Given the description of an element on the screen output the (x, y) to click on. 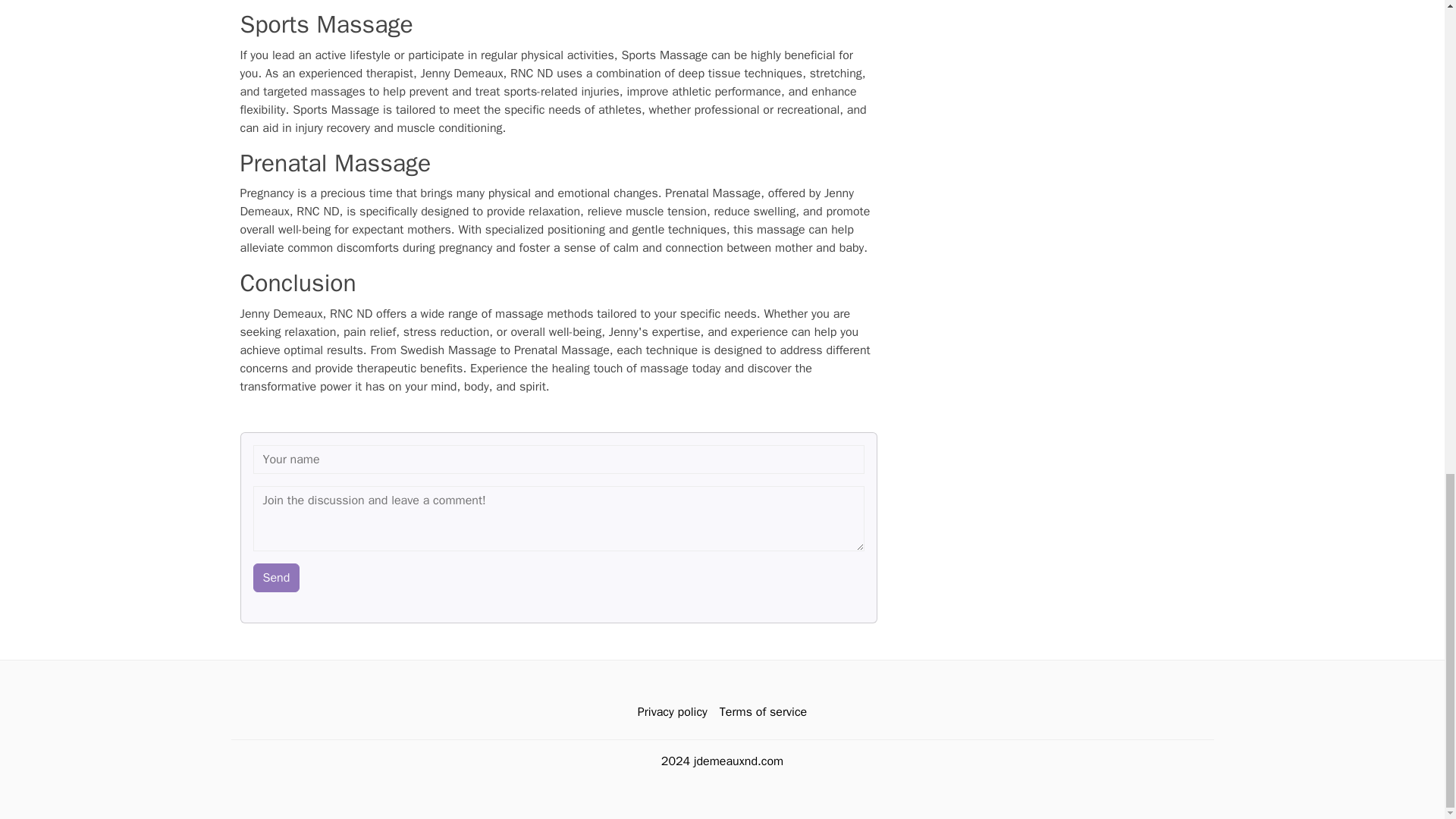
Send (276, 576)
Privacy policy (672, 711)
Terms of service (762, 711)
Send (276, 576)
